Given the description of an element on the screen output the (x, y) to click on. 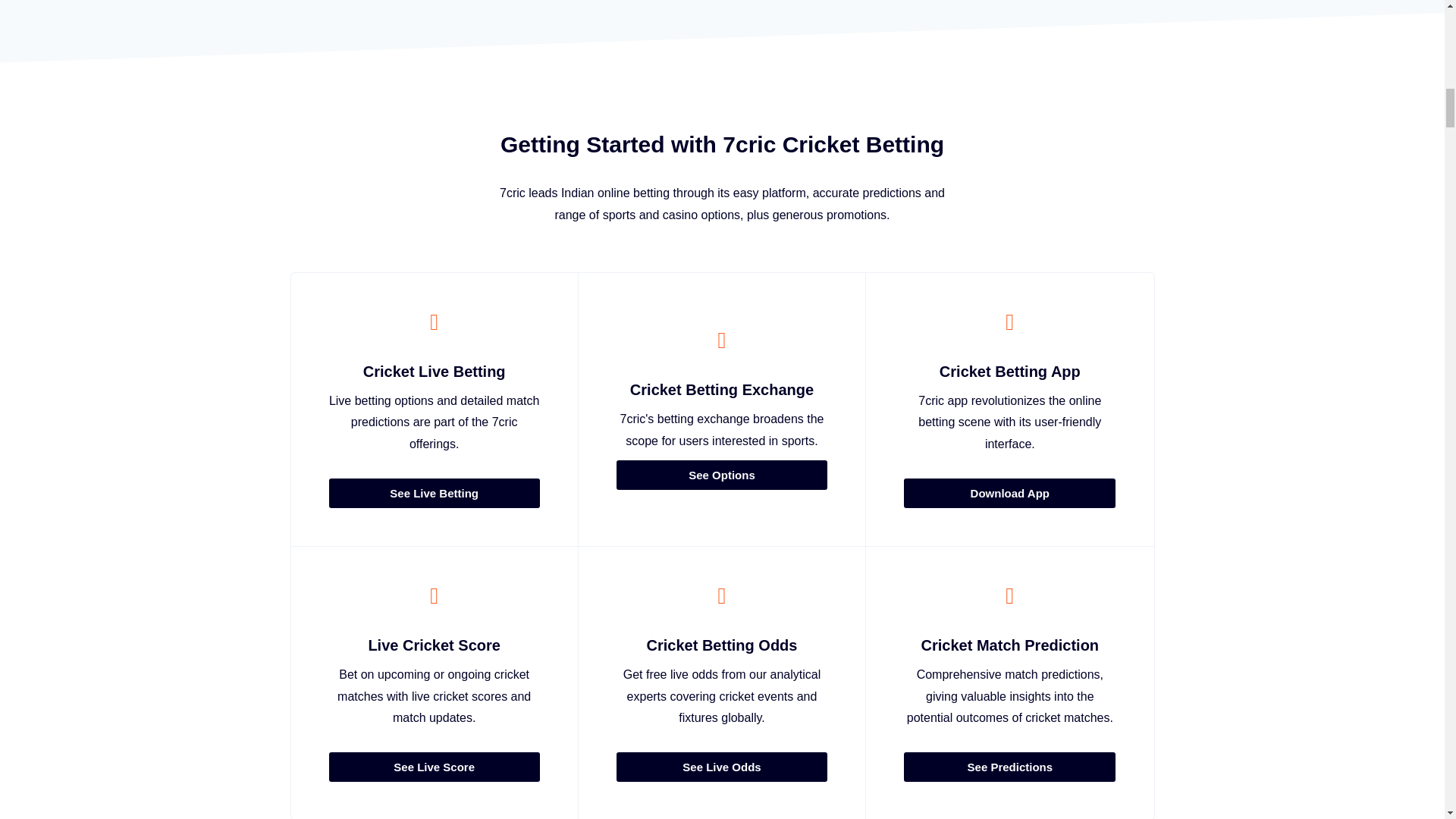
See Live Odds (721, 767)
Download App (1009, 492)
See Options (721, 474)
See Live Betting (434, 492)
See Predictions (1009, 767)
See Live Score (434, 767)
